Given the description of an element on the screen output the (x, y) to click on. 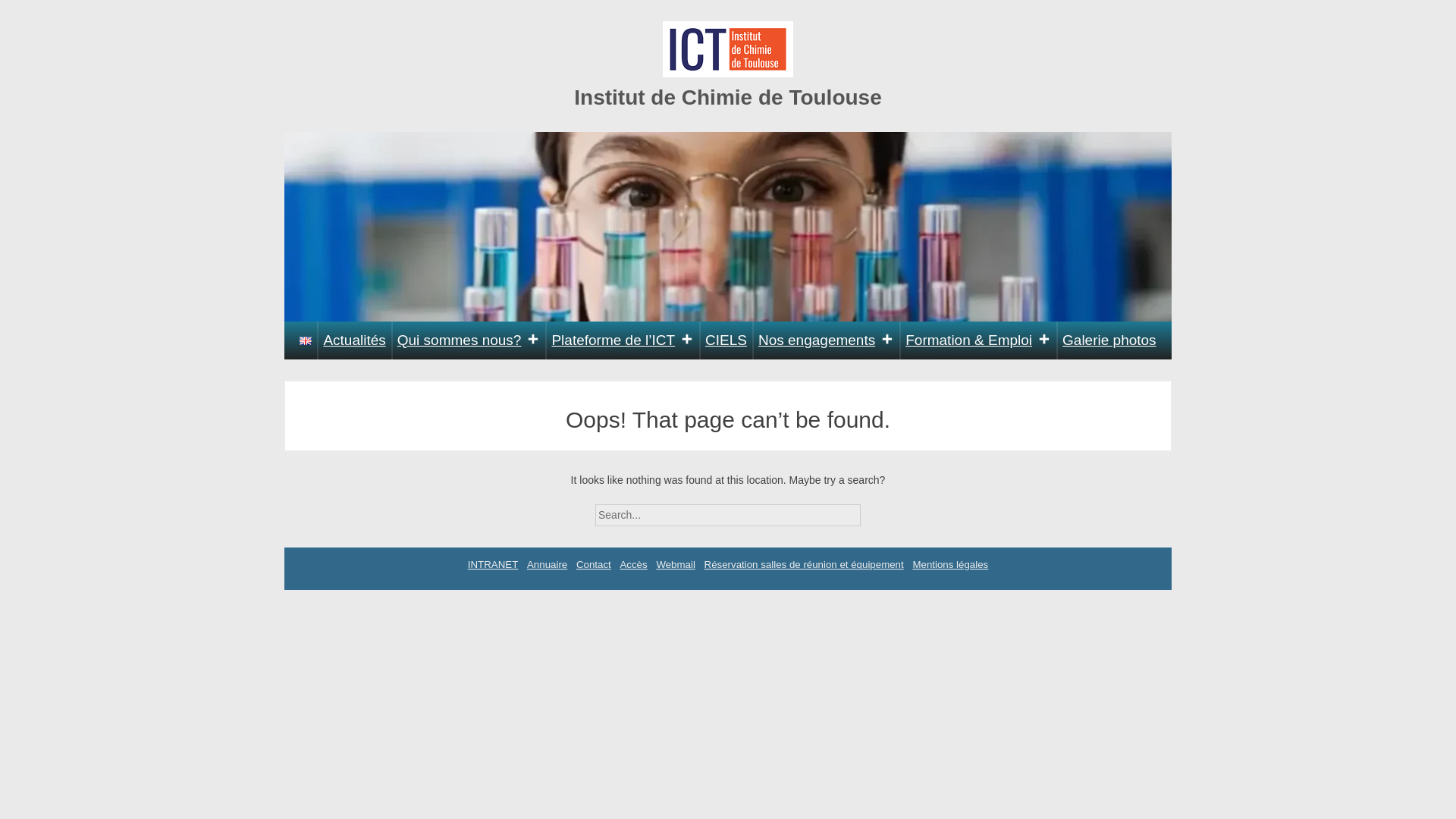
Nos engagements (825, 340)
Institut de Chimie de Toulouse (727, 97)
CIELS (726, 340)
Search (873, 509)
Search (873, 509)
Qui sommes nous? (468, 340)
